Given the description of an element on the screen output the (x, y) to click on. 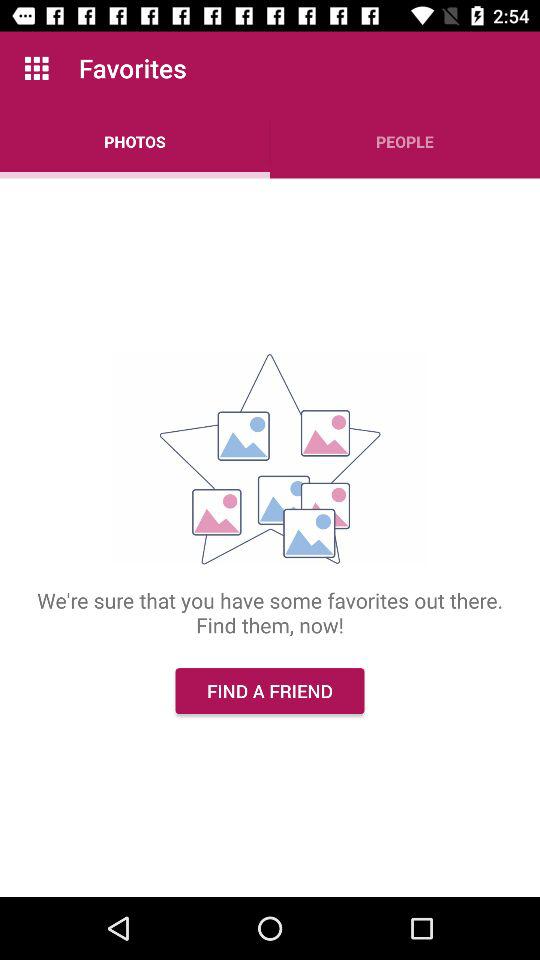
flip until the photos app (135, 141)
